Given the description of an element on the screen output the (x, y) to click on. 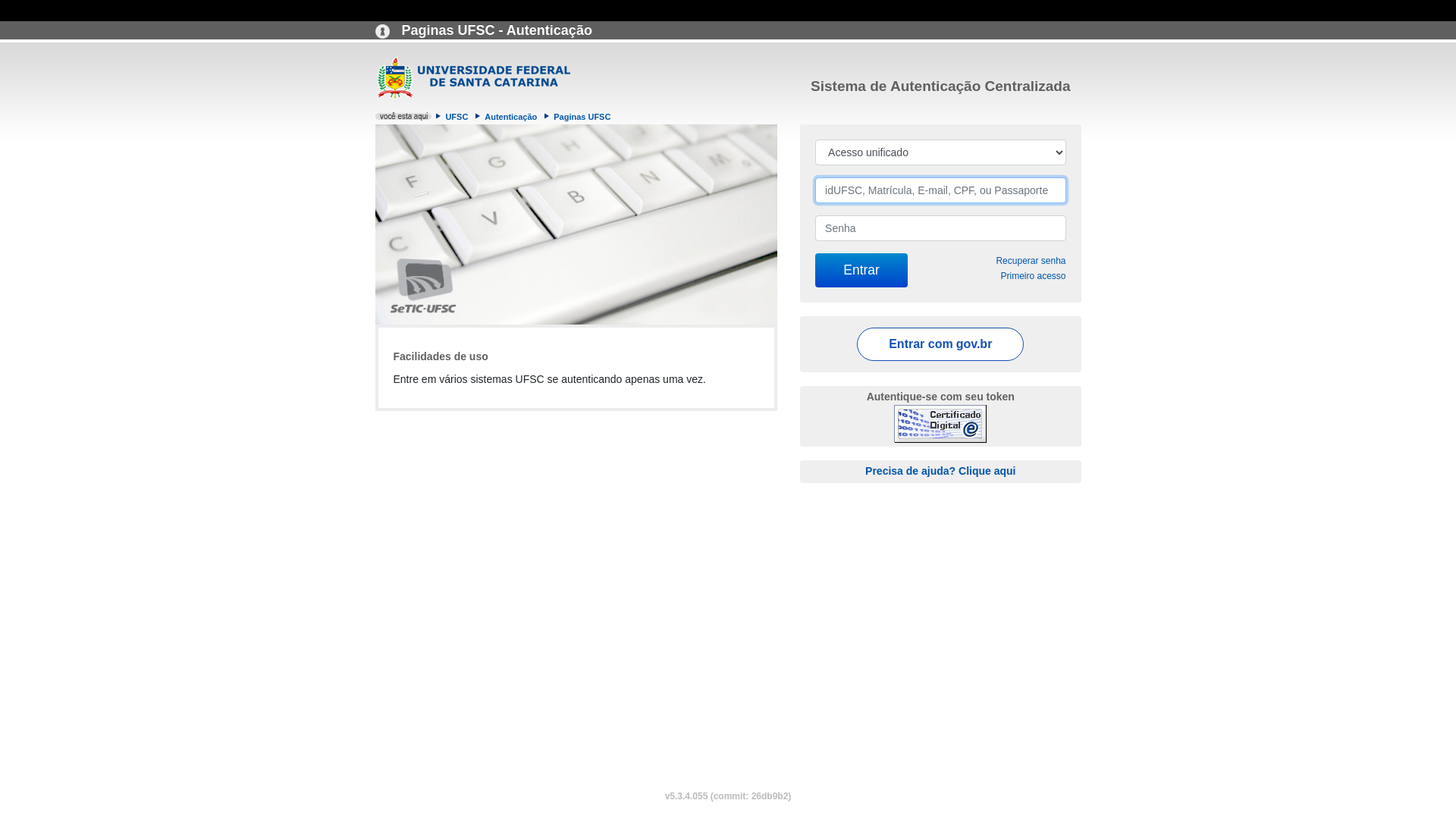
Precisa de ajuda? Clique aqui Element type: text (940, 470)
Entrar Element type: text (861, 270)
Paginas UFSC Element type: text (581, 116)
Primeiro acesso Element type: text (1032, 275)
Recuperar senha Element type: text (1030, 260)
UFSC Element type: text (456, 116)
Entrar com
gov.br Element type: text (939, 343)
